Given the description of an element on the screen output the (x, y) to click on. 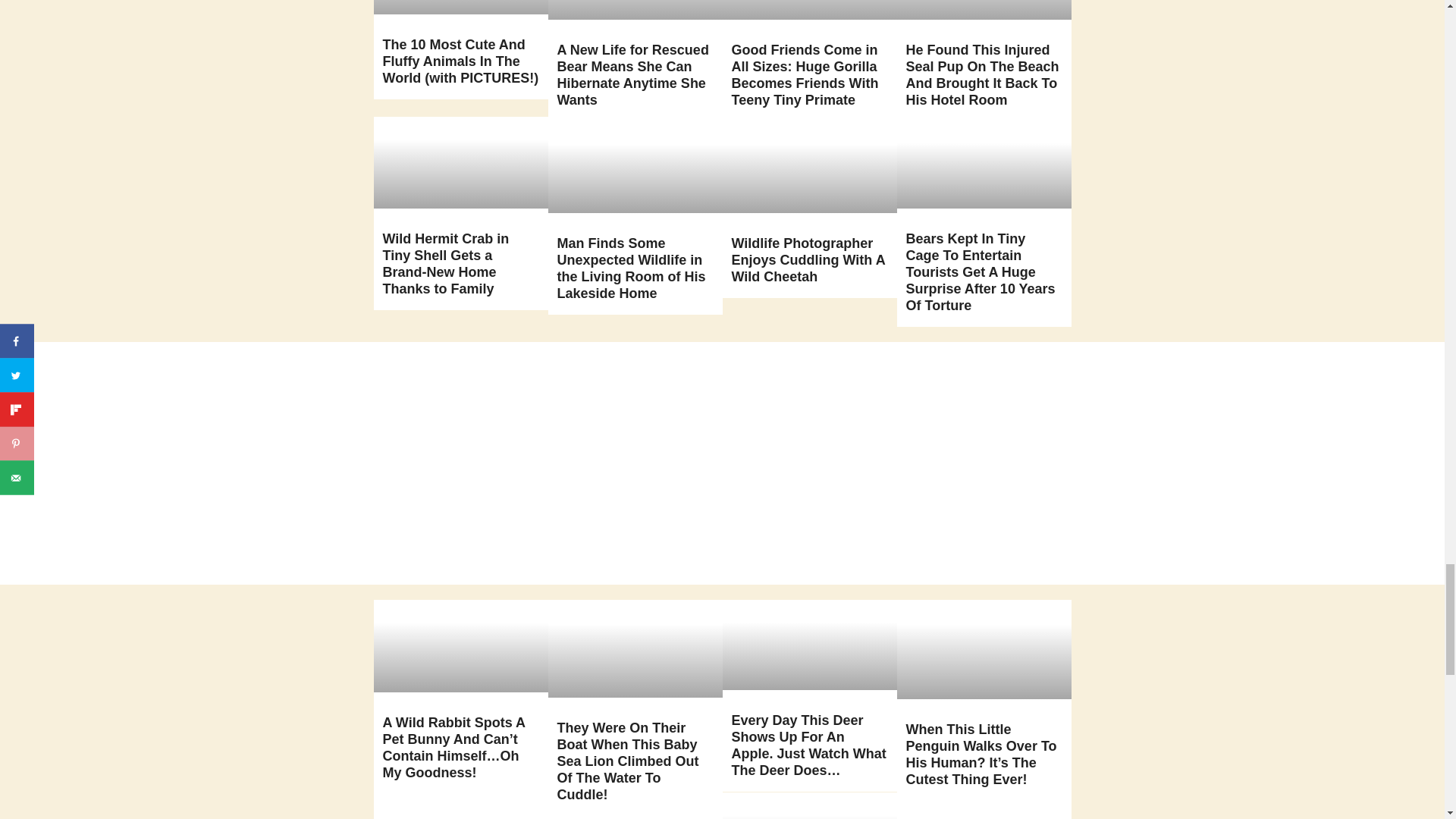
Wildlife Photographer Enjoys Cuddling With A Wild Cheetah (806, 259)
